Given the description of an element on the screen output the (x, y) to click on. 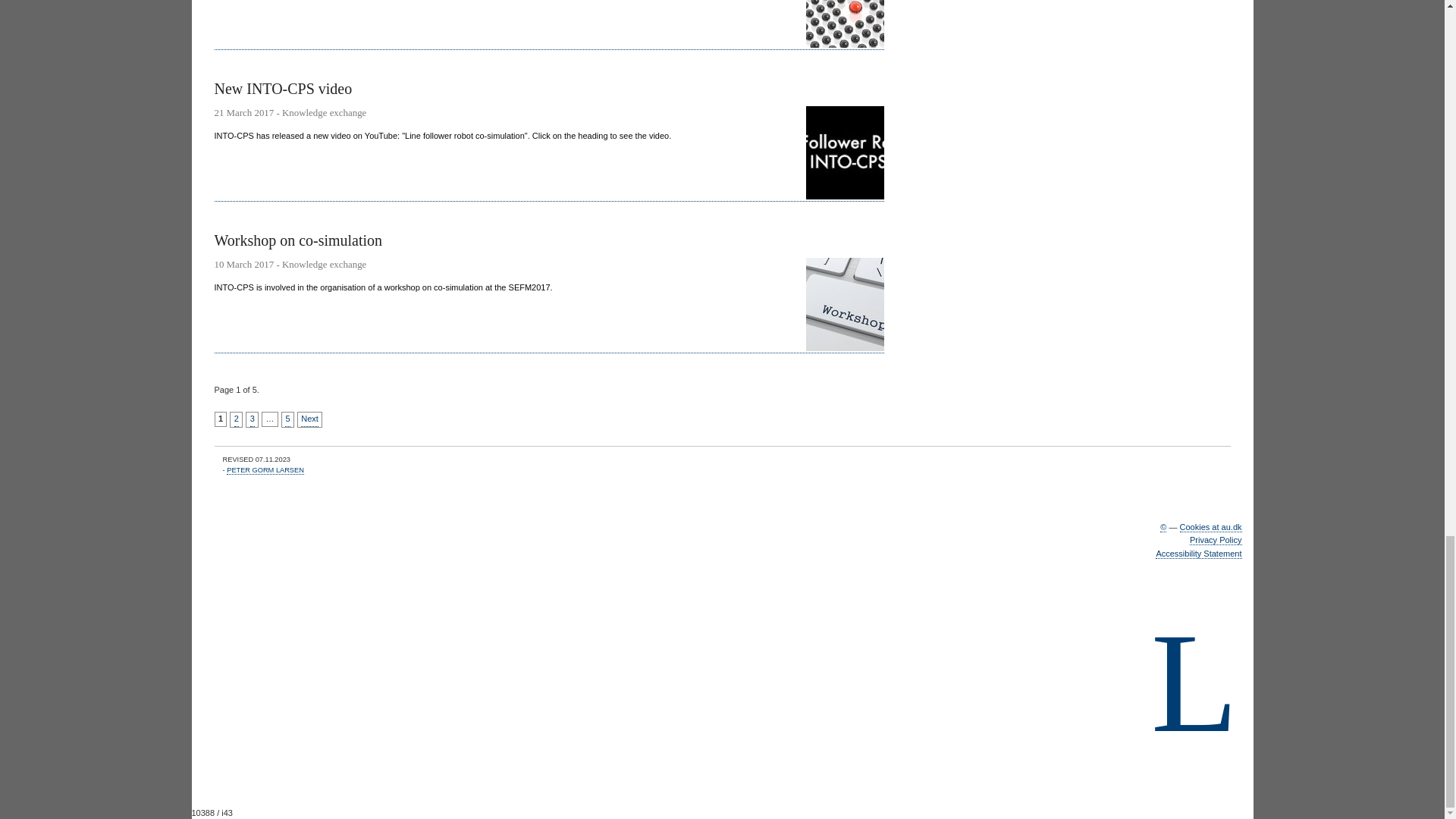
New member of the industry follower group (548, 24)
PETER GORM LARSEN (265, 470)
Cookies at au.dk (1210, 527)
New INTO-CPS video (548, 140)
Workshop on co-simulation  (548, 291)
Next (309, 419)
